Given the description of an element on the screen output the (x, y) to click on. 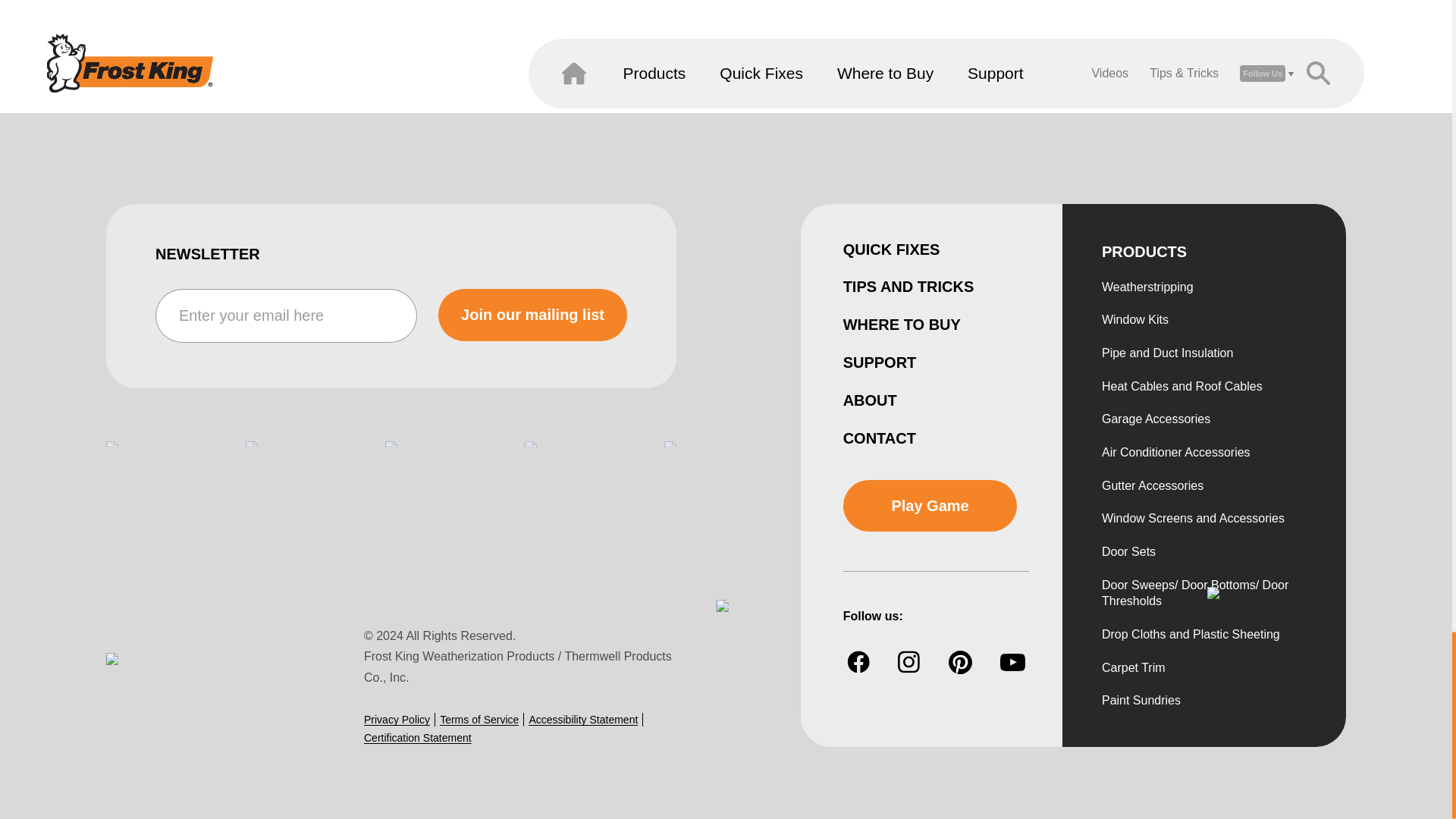
Weatherstripping (1147, 287)
PRODUCTS (1144, 251)
Frost King logo (174, 676)
Join our mailing list (532, 315)
Window Kits (1135, 320)
